Given the description of an element on the screen output the (x, y) to click on. 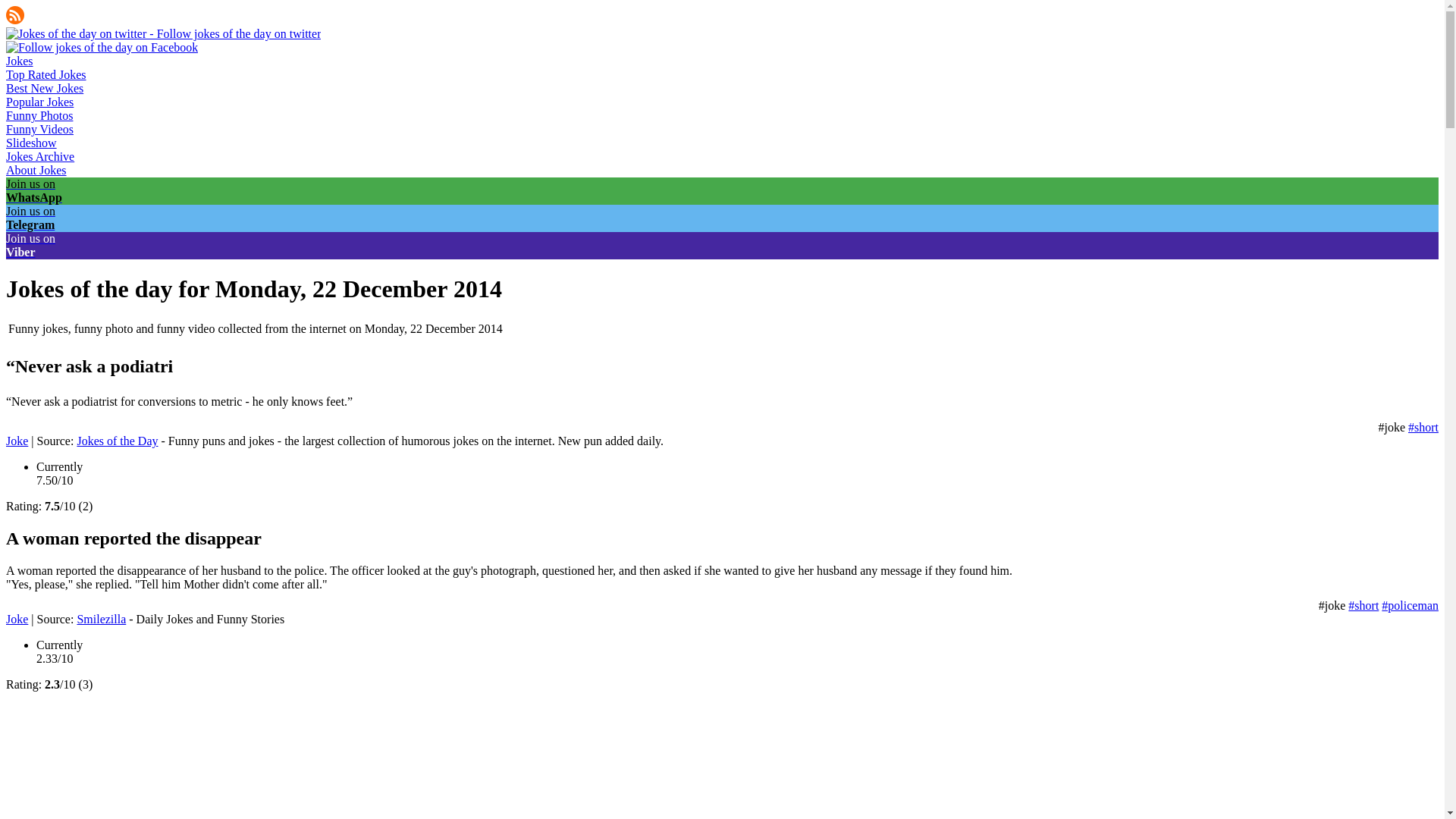
Slideshow (30, 142)
Joke (16, 618)
Jokes Archive (39, 155)
The Best Jokes - top rated jokes (45, 74)
Funny Photos (38, 115)
Jokes Archive (39, 155)
Funny Photos (38, 115)
Best New Jokes (43, 88)
Funny Videos (39, 128)
